Given the description of an element on the screen output the (x, y) to click on. 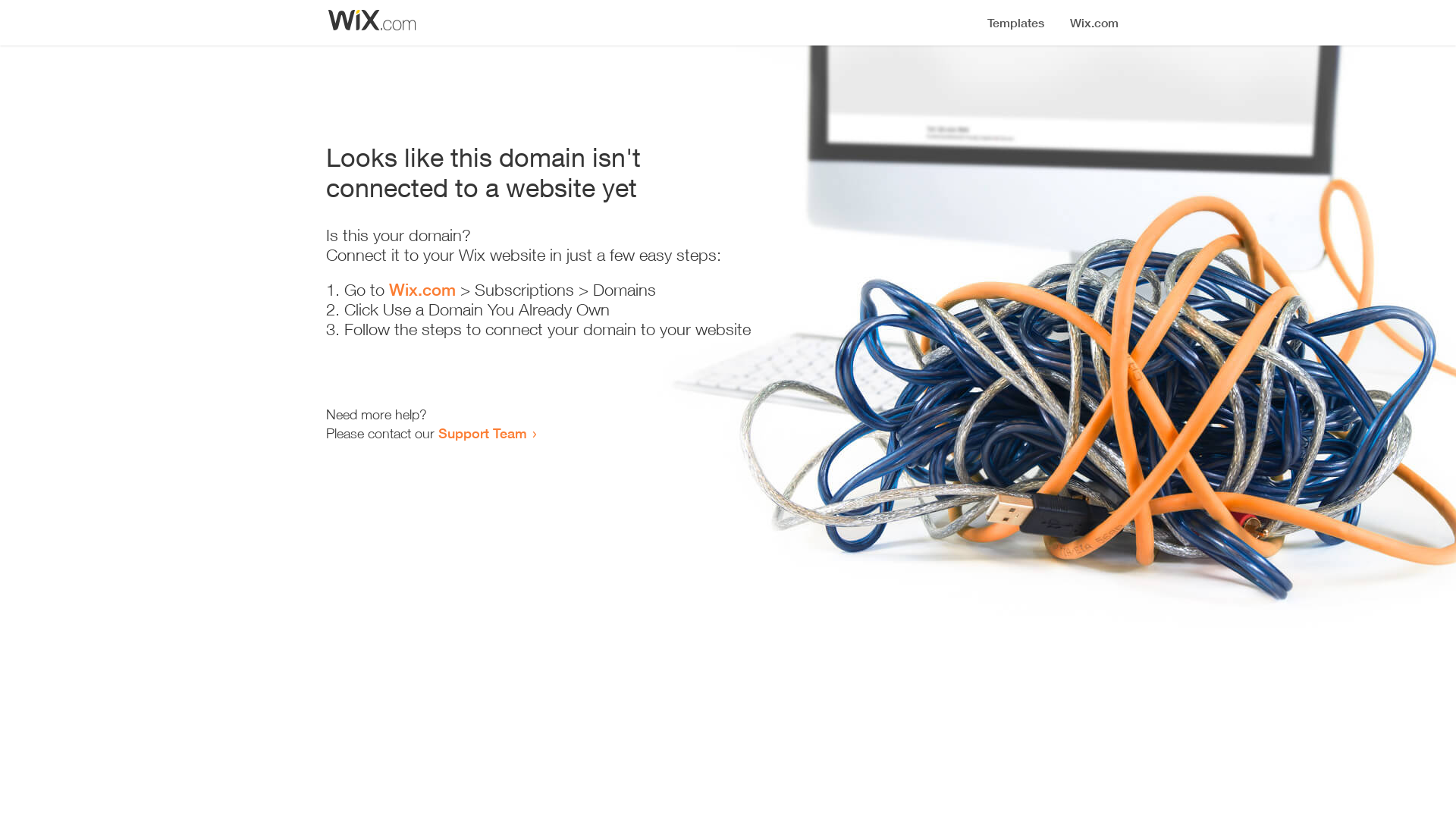
Wix.com Element type: text (422, 289)
Support Team Element type: text (482, 432)
